Given the description of an element on the screen output the (x, y) to click on. 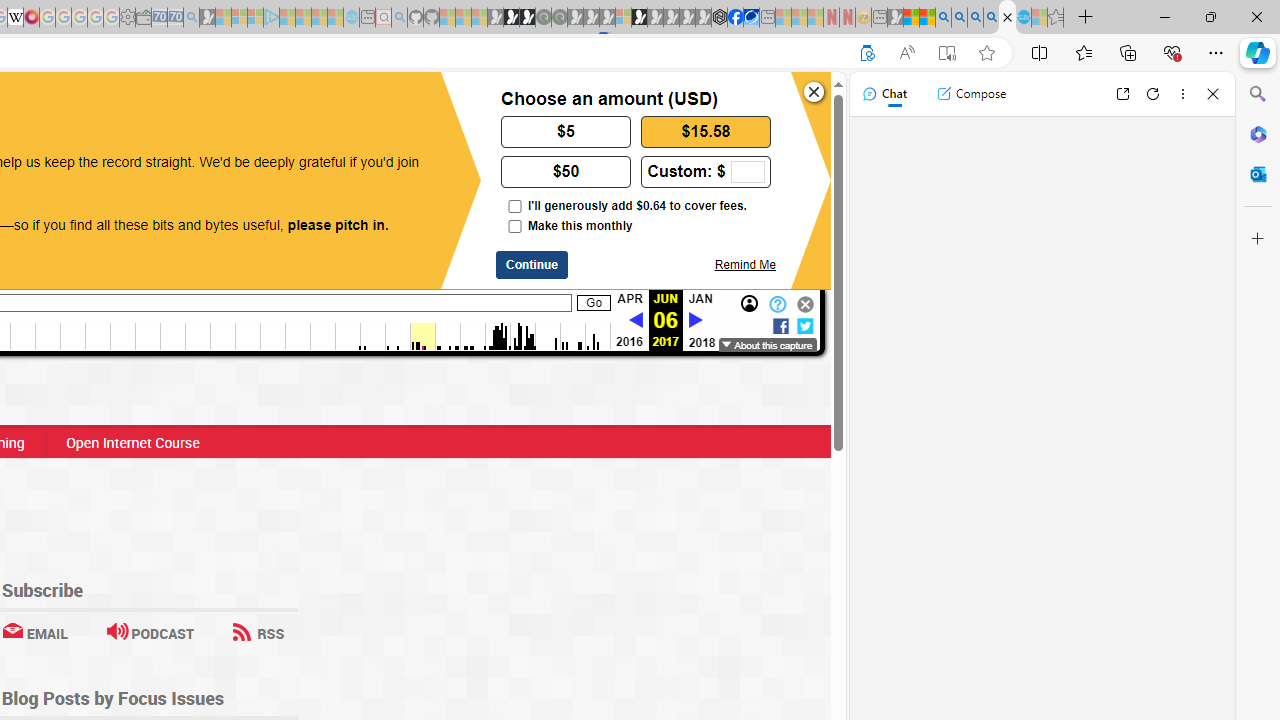
DONATE (177, 108)
AirNow.gov (751, 17)
PODCAST (150, 632)
Remind Me (744, 264)
Open Internet Course (132, 442)
